Given the description of an element on the screen output the (x, y) to click on. 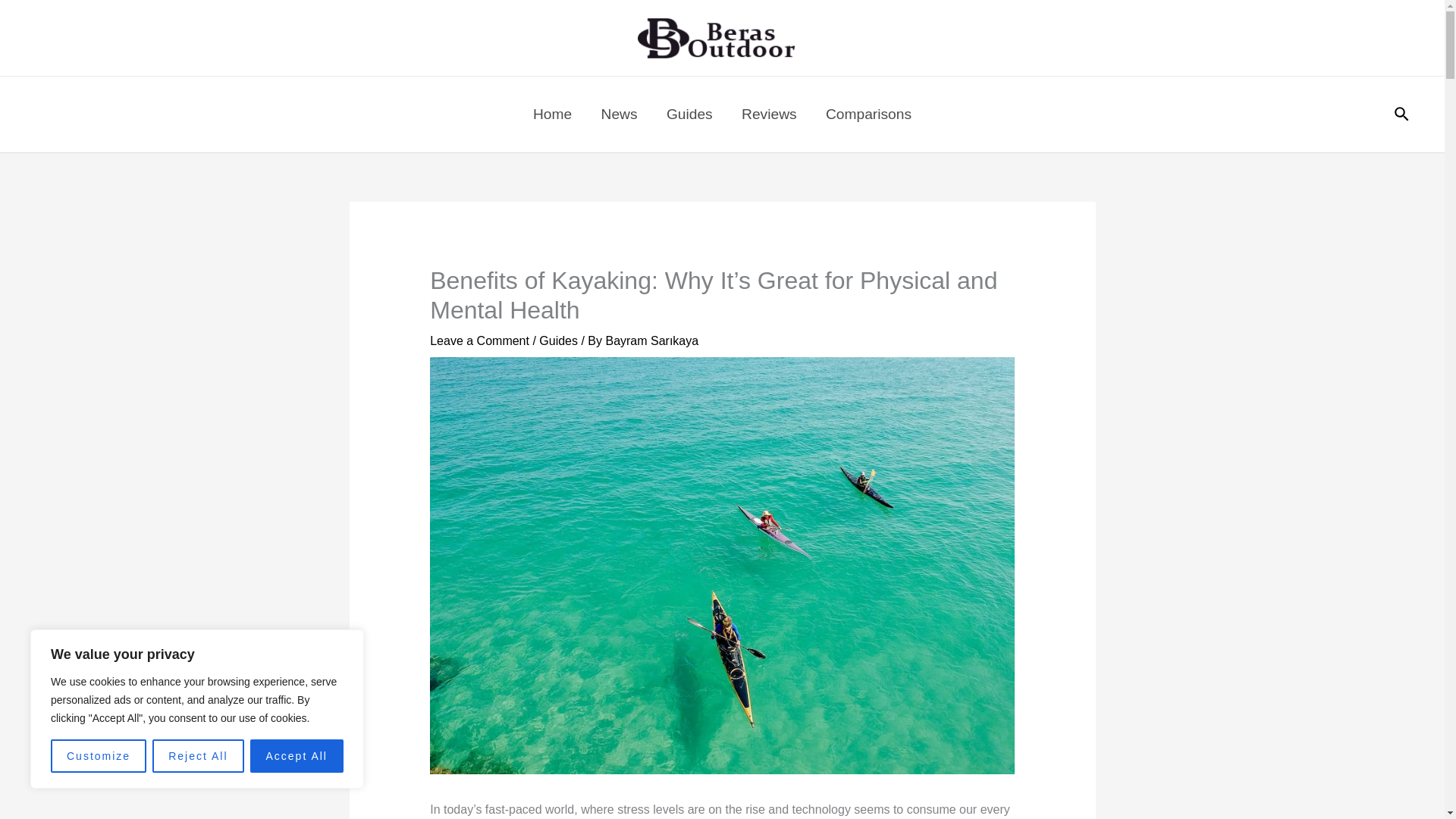
Home (552, 114)
Reject All (197, 756)
Leave a Comment (479, 340)
Guides (558, 340)
Reviews (768, 114)
Comparisons (868, 114)
Accept All (296, 756)
Guides (689, 114)
Customize (98, 756)
